Given the description of an element on the screen output the (x, y) to click on. 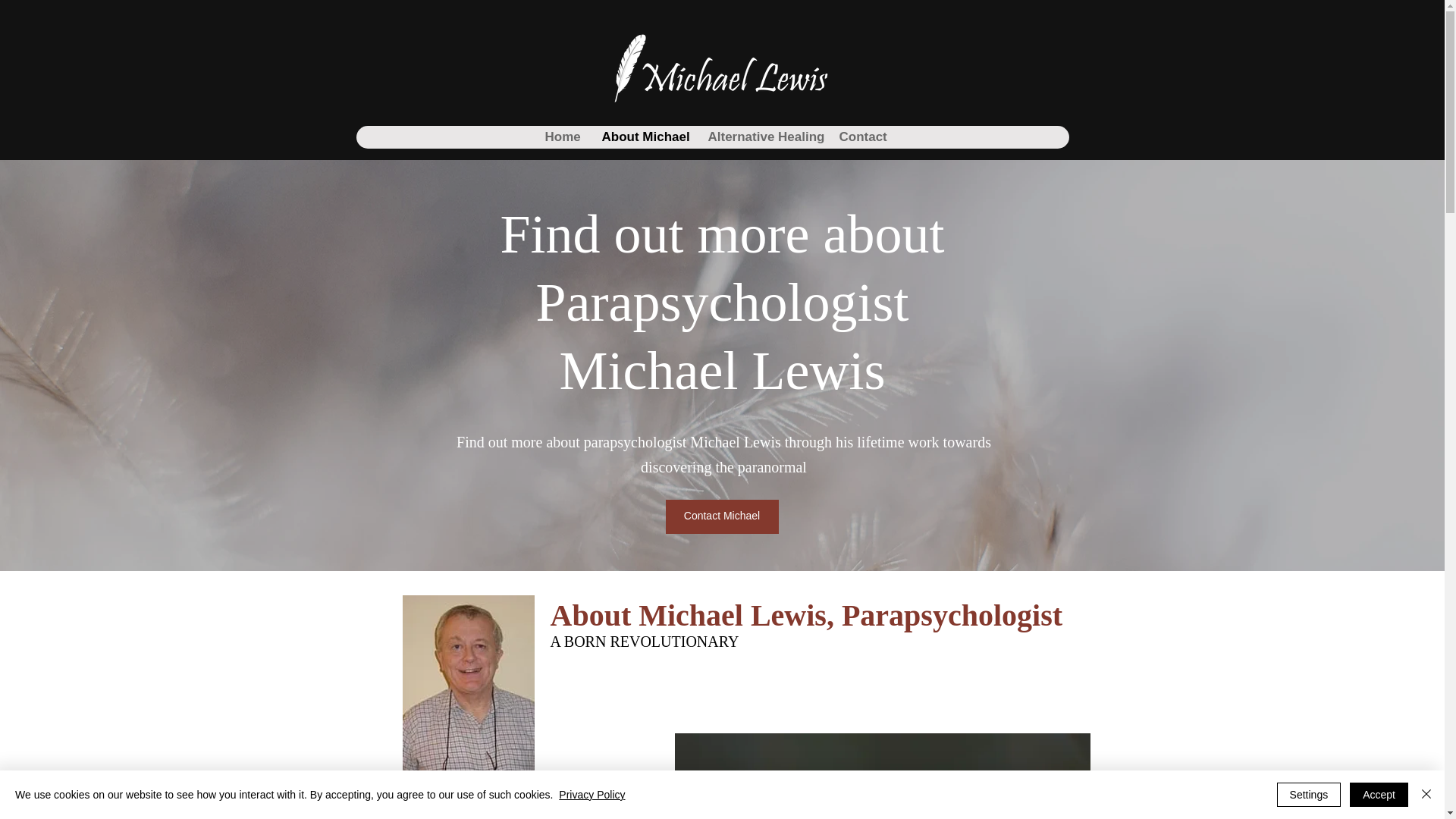
Privacy Policy (591, 794)
Accept (1378, 794)
Settings (1308, 794)
Contact (860, 137)
Contact Michael (721, 516)
Home (560, 137)
About Michael (642, 137)
Alternative Healing (761, 137)
